Given the description of an element on the screen output the (x, y) to click on. 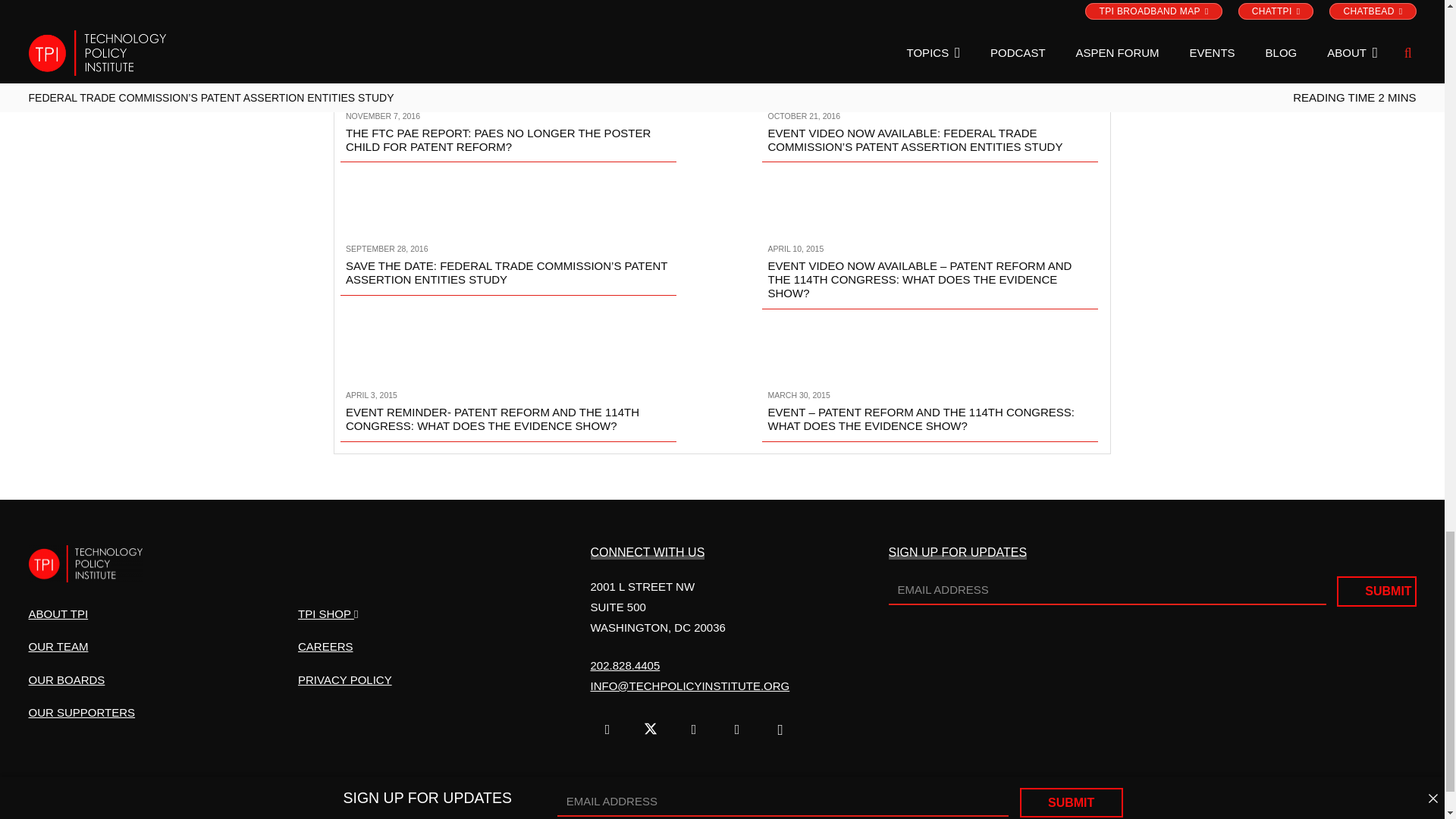
Submit (1375, 591)
LinkedIn (737, 729)
Facebook (606, 729)
YouTube (693, 729)
Instagram (779, 729)
Twitter (650, 729)
